Given the description of an element on the screen output the (x, y) to click on. 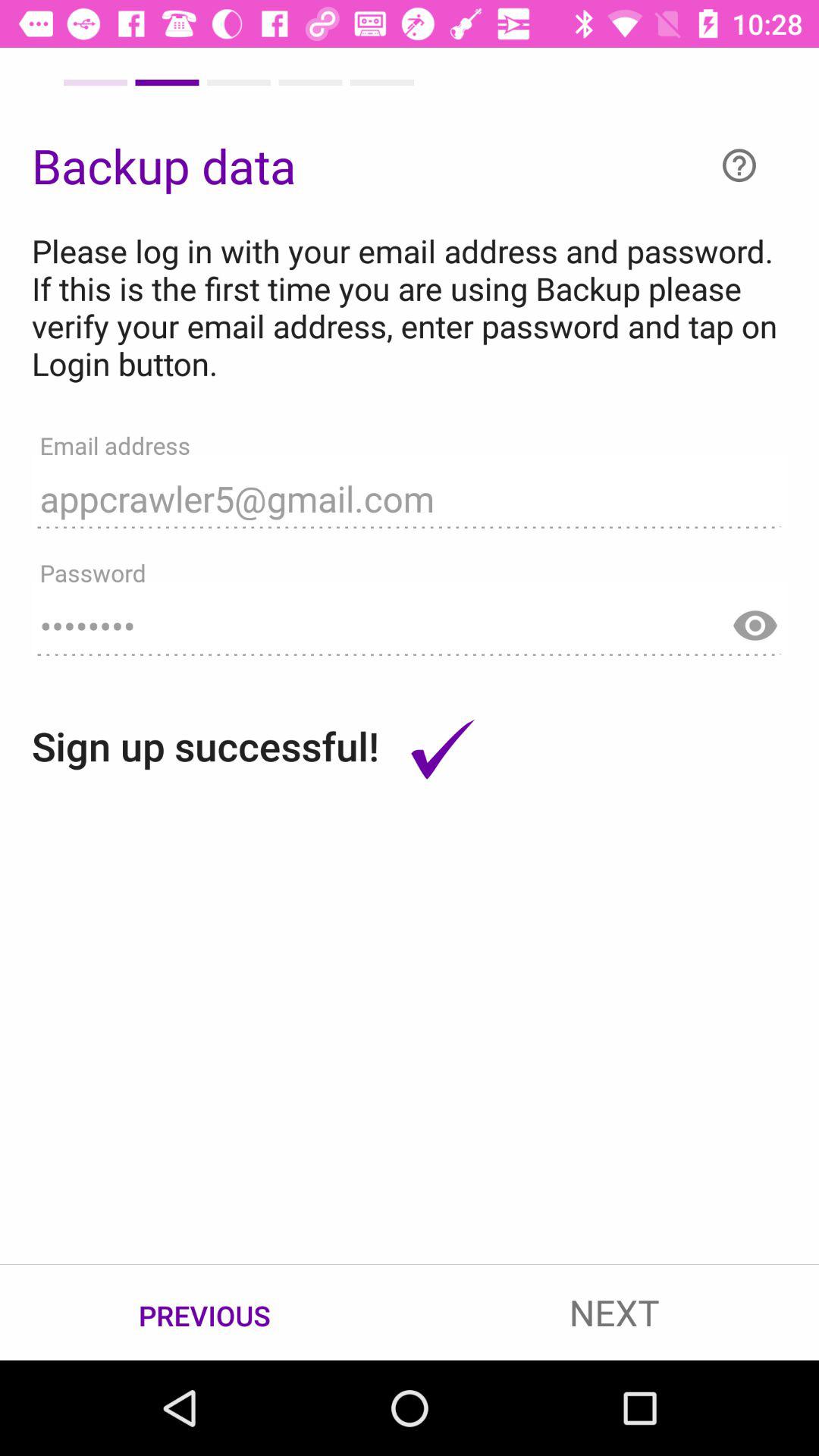
password show icon (755, 618)
